Given the description of an element on the screen output the (x, y) to click on. 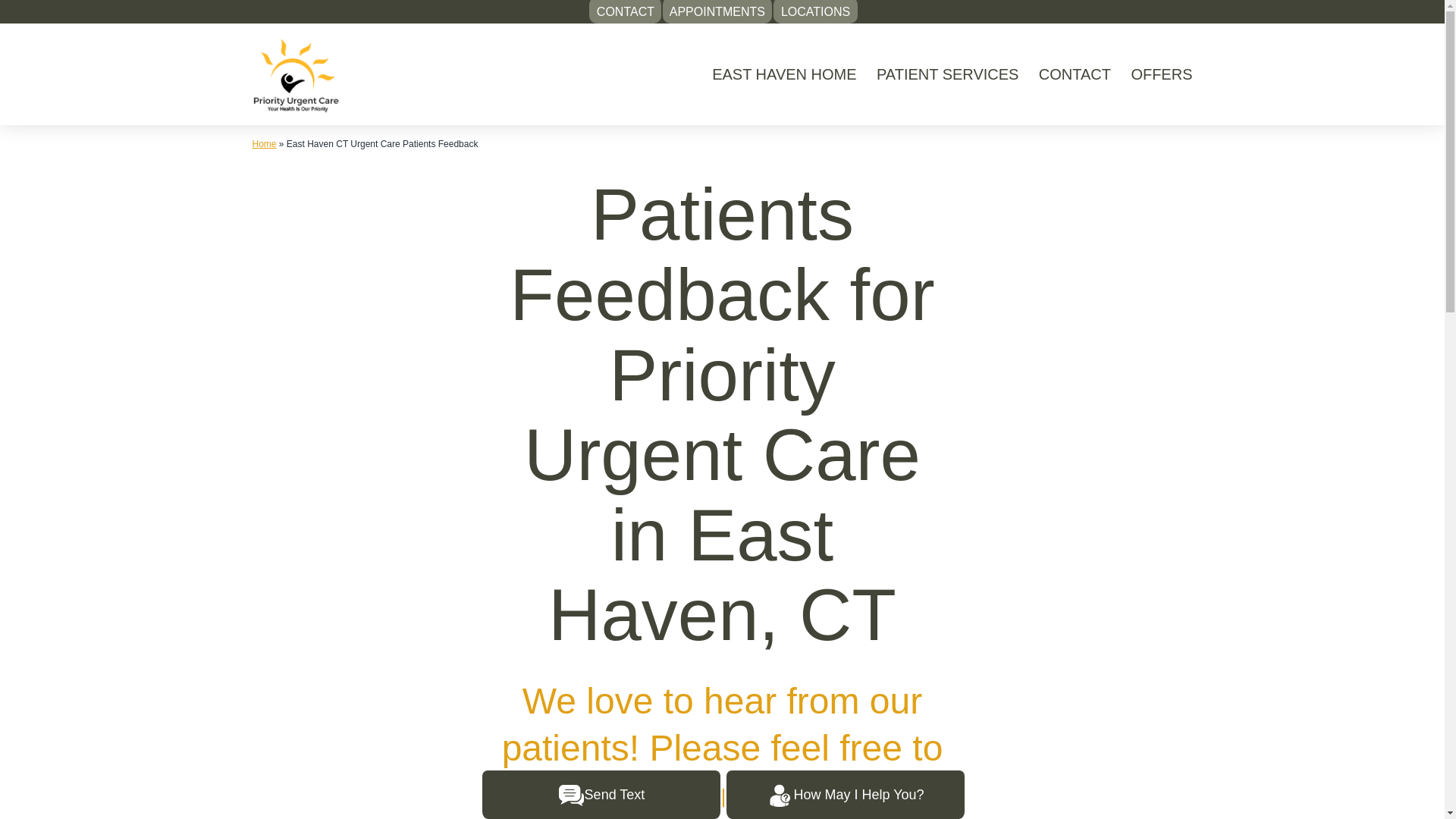
CONTACT (625, 11)
Home (263, 143)
APPOINTMENTS (716, 11)
EAST HAVEN HOME (783, 73)
LOCATIONS (815, 11)
OFFERS (1161, 73)
CONTACT (1075, 73)
PATIENT SERVICES (947, 73)
